Given the description of an element on the screen output the (x, y) to click on. 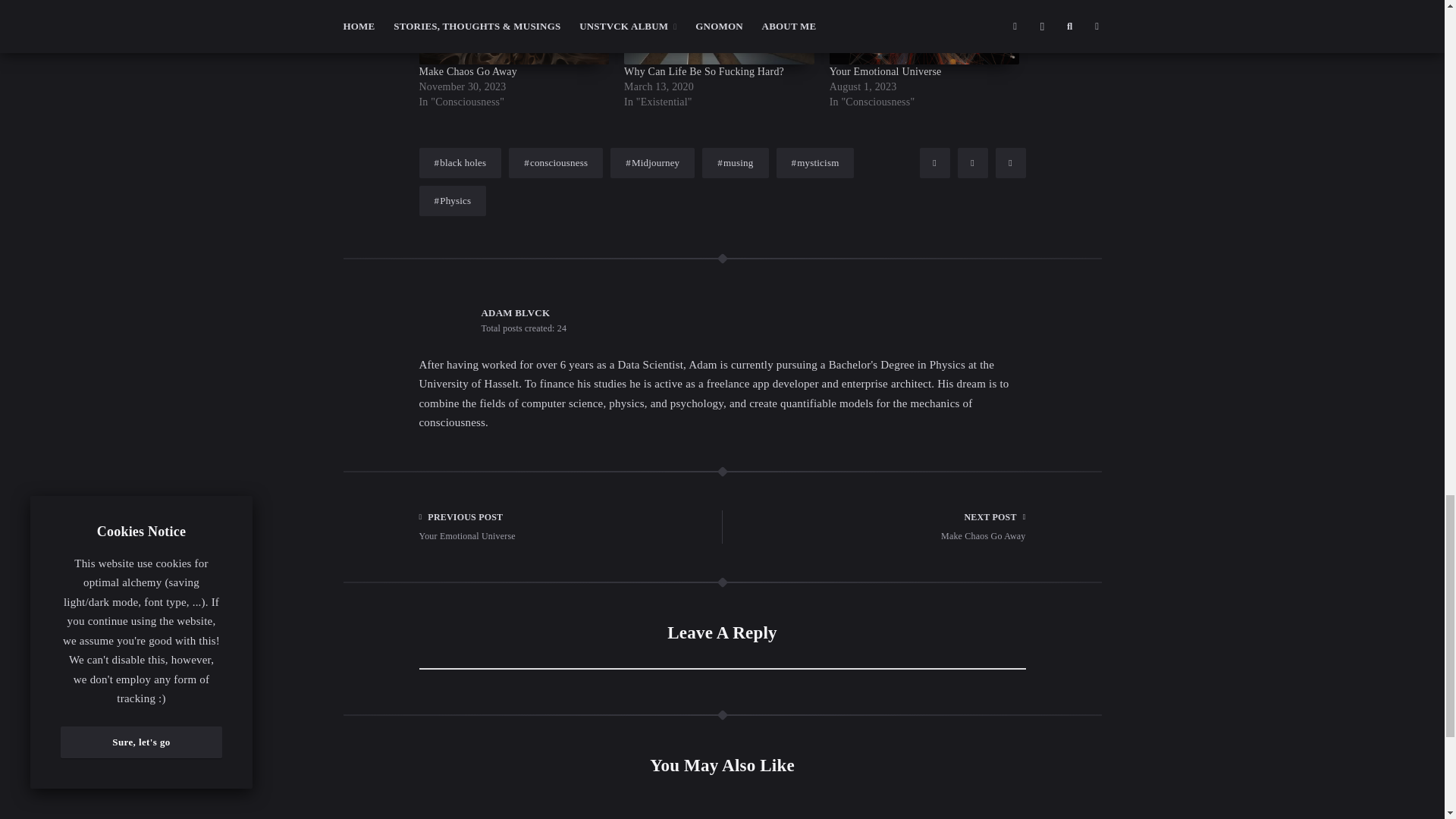
Why Can Life Be So Fucking Hard? (704, 71)
Make Chaos Go Away (513, 32)
Your Emotional Universe (924, 32)
Make Chaos Go Away (467, 71)
Why Can Life Be So Fucking Hard? (718, 32)
Your Emotional Universe (885, 71)
